Given the description of an element on the screen output the (x, y) to click on. 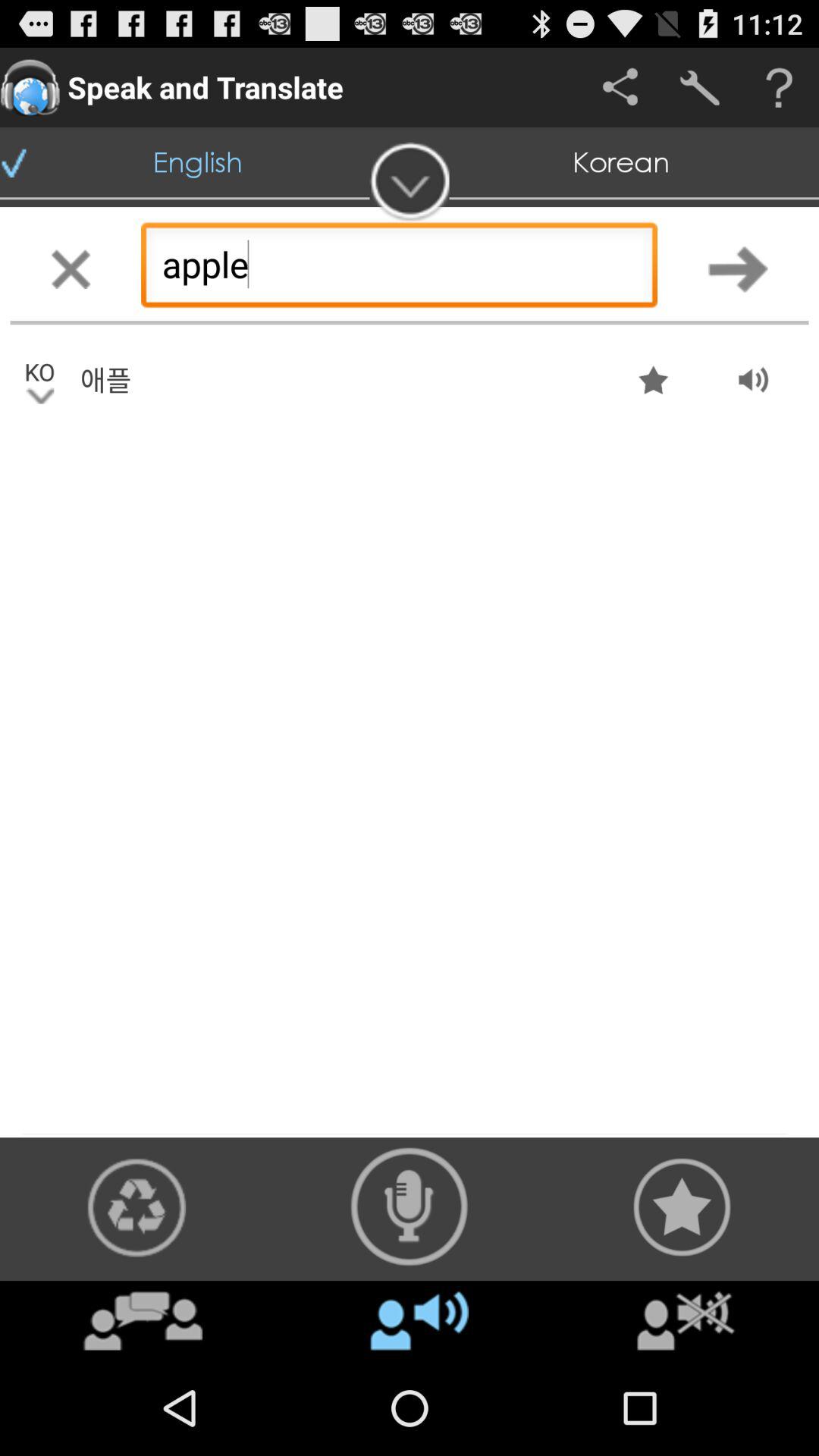
select the share option (619, 87)
